Given the description of an element on the screen output the (x, y) to click on. 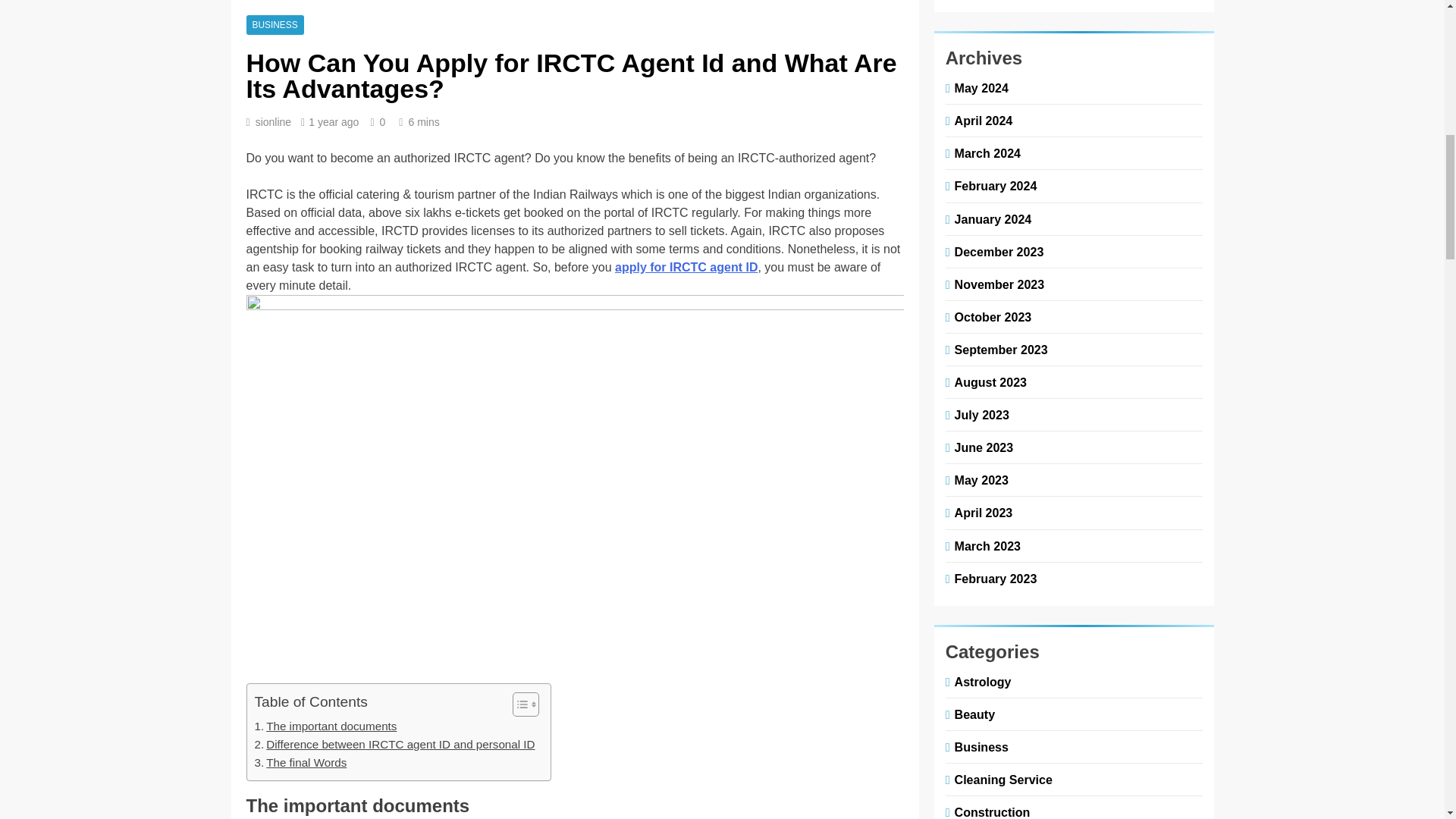
The important documents (325, 216)
Difference between IRCTC agent ID and personal ID (394, 234)
The final Words (300, 252)
